Given the description of an element on the screen output the (x, y) to click on. 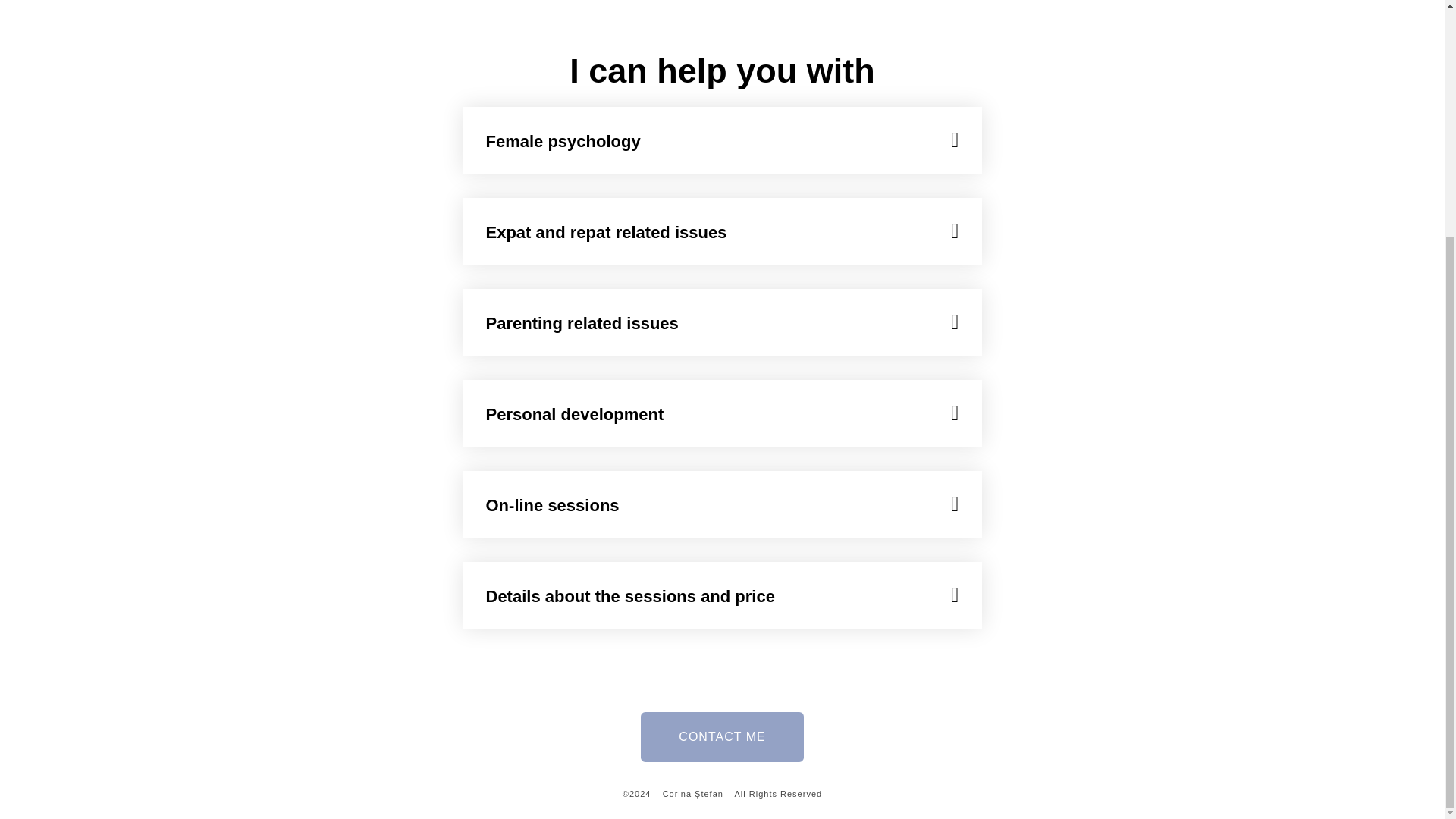
Personal development (573, 414)
Female psychology (562, 140)
CONTACT ME (721, 736)
On-line sessions (551, 505)
Details about the sessions and price (629, 596)
Expat and repat related issues (605, 231)
Parenting related issues (581, 322)
